Given the description of an element on the screen output the (x, y) to click on. 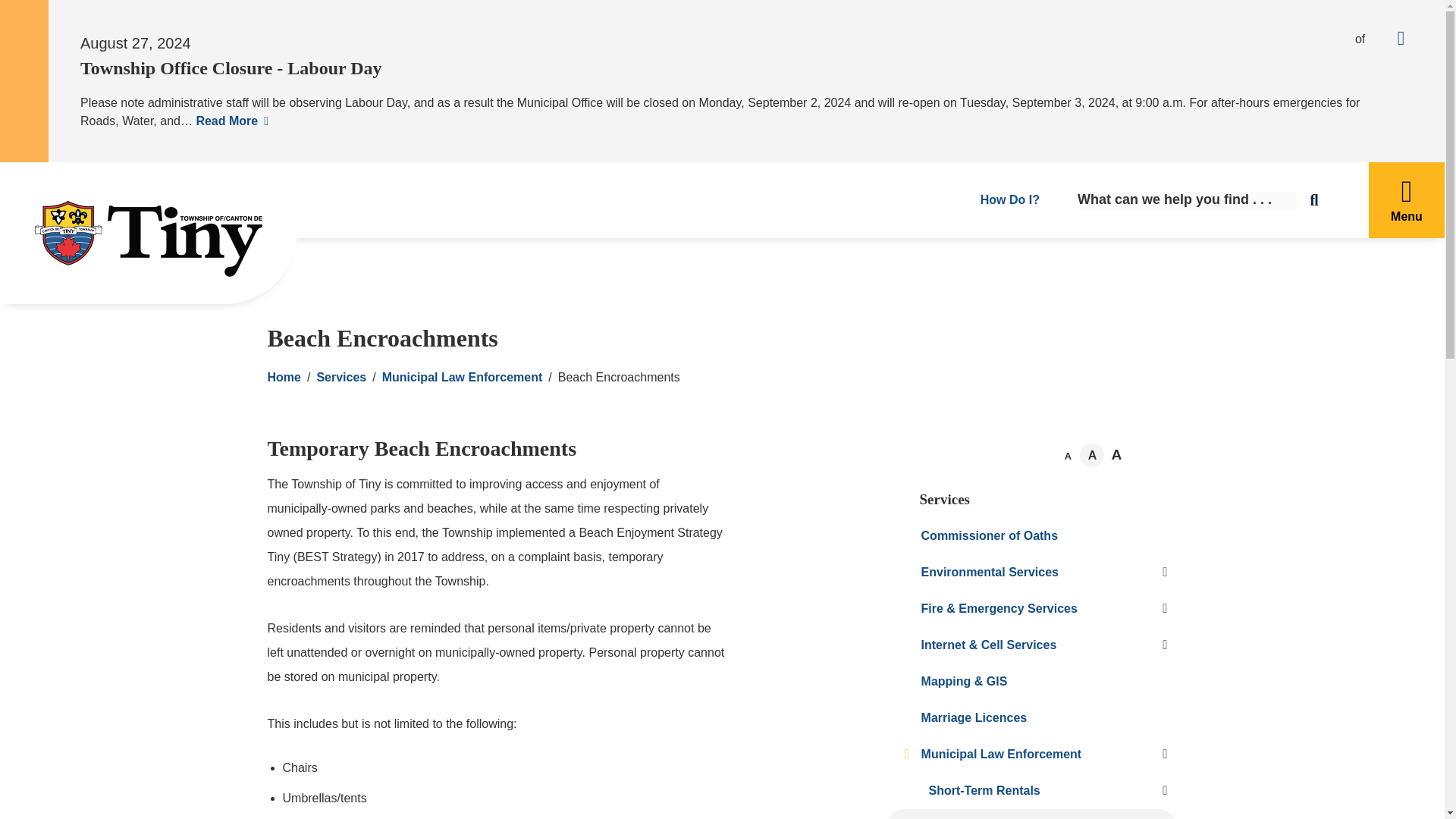
How Do I? (1005, 200)
Read Township Office Closure - Labour Day alert full details (231, 121)
Reset font size (1091, 454)
Increase font size (1115, 454)
Print (1140, 454)
Read More (231, 121)
Search (1319, 199)
Decrease font size (1067, 455)
